Given the description of an element on the screen output the (x, y) to click on. 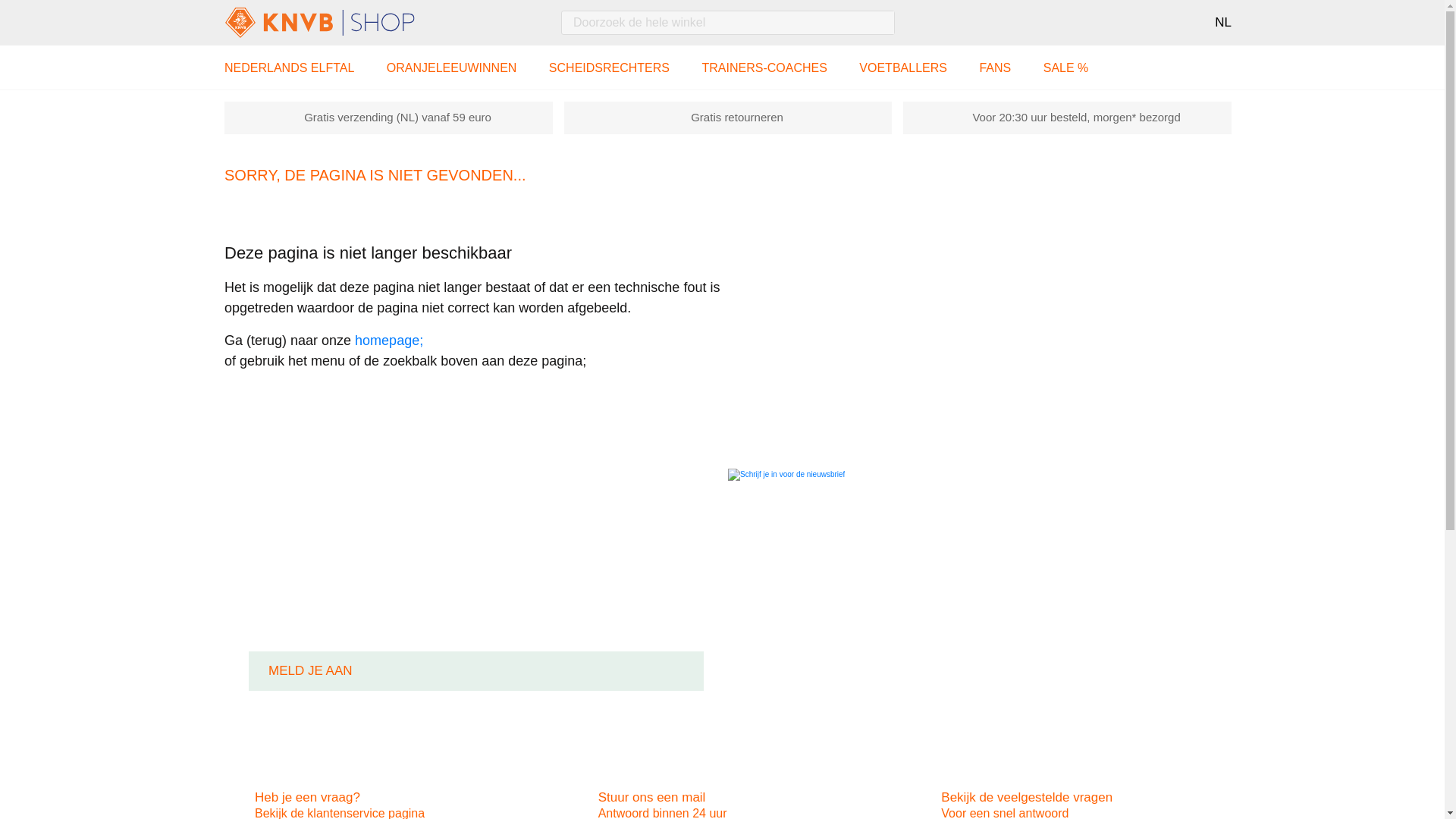
Gratis retourneren (736, 116)
homepage; (389, 339)
Inloggen (1130, 22)
KNVBshop.nl (345, 22)
TRAINERS-COACHES (764, 67)
VOETBALLERS (903, 67)
KNVBshop.nl (319, 22)
NEDERLANDS ELFTAL (288, 67)
Bekijk de klantenservice pagina (339, 812)
Stuur ons een mail (652, 796)
